Given the description of an element on the screen output the (x, y) to click on. 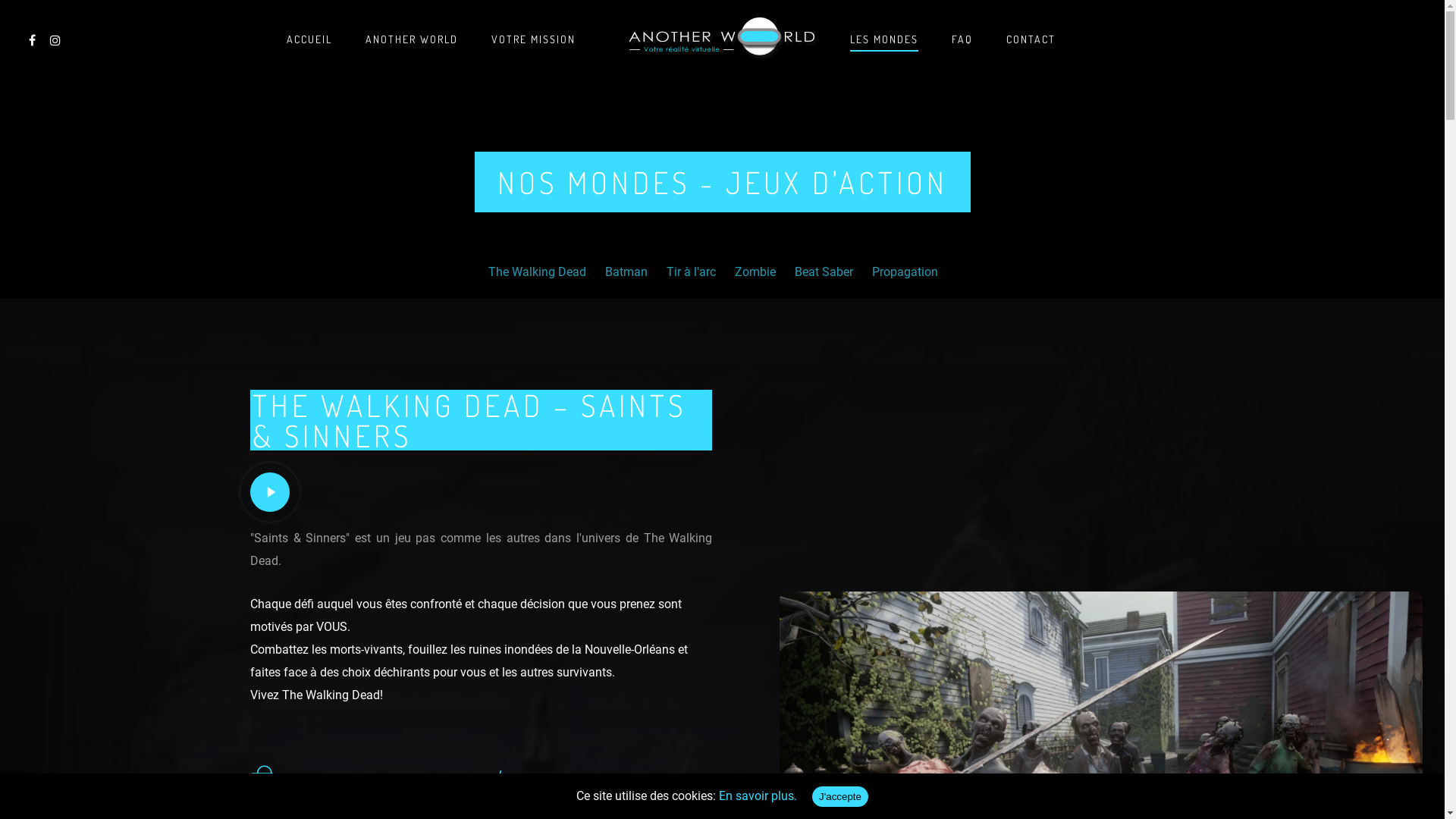
Batman Element type: text (626, 271)
VOTRE MISSION Element type: text (533, 44)
En savoir plus. Element type: text (757, 795)
6032 Charleroi (Mont-sur-Marchienne) Element type: text (689, 519)
Avenue Paul Pastur 237 Element type: text (677, 496)
ACCUEIL Element type: text (309, 44)
LES MONDES Element type: text (883, 44)
CONTACT Element type: text (1029, 44)
J'accepte Element type: text (840, 796)
ANOTHER WORLD Element type: text (411, 44)
info@anotherworld.be Element type: text (670, 654)
Beat Saber Element type: text (823, 271)
Zombie Element type: text (754, 271)
The Walking Dead Element type: text (537, 271)
Propagation Element type: text (905, 271)
FAQ Element type: text (961, 44)
